Given the description of an element on the screen output the (x, y) to click on. 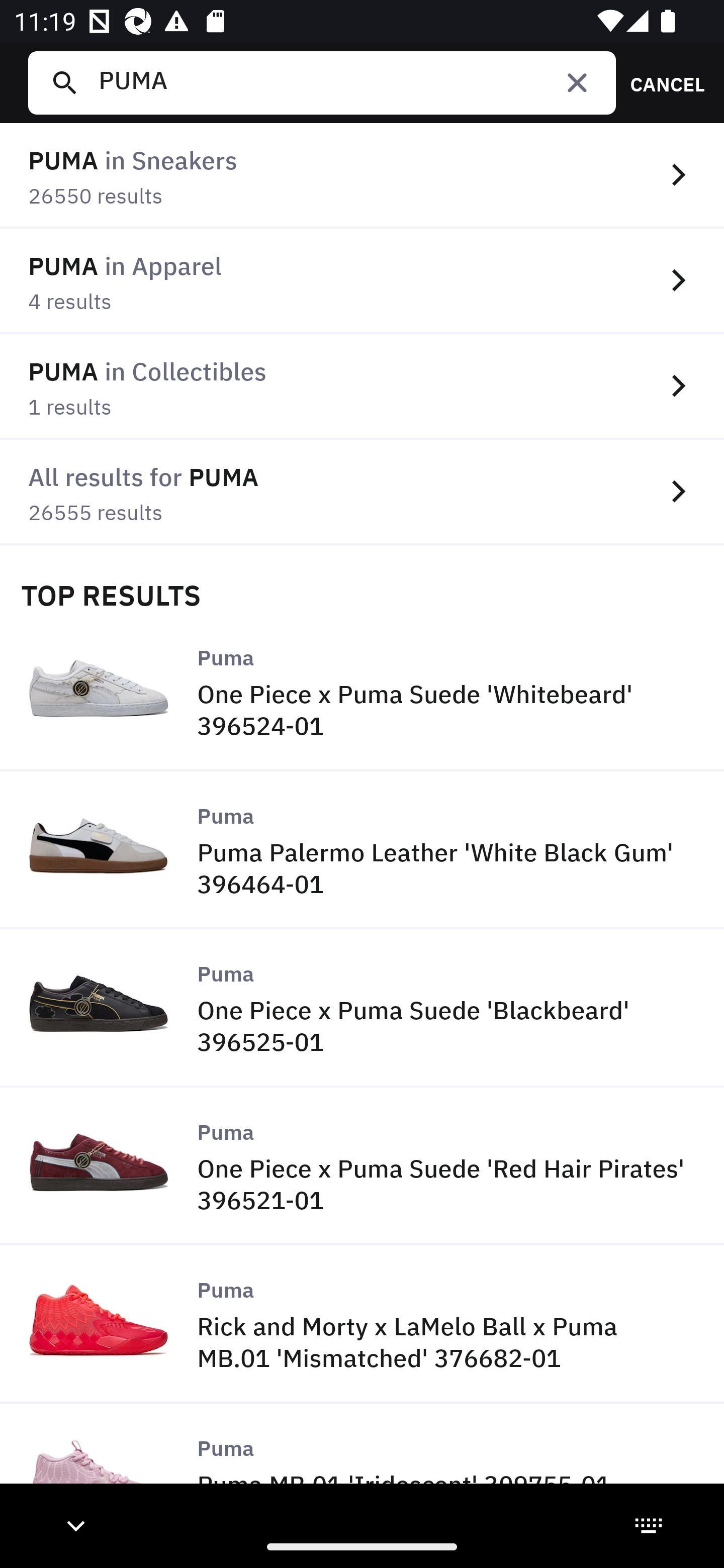
CANCEL (660, 82)
PUMA (349, 82)
 (577, 82)
PUMA  in Sneakers 26550 results  (362, 175)
PUMA  in Apparel 4 results  (362, 280)
PUMA  in Collectibles 1 results  (362, 386)
All results for  PUMA 26555 results  (362, 492)
Puma One Piece x Puma Suede 'Whitebeard' 396524‑01 (362, 692)
Puma One Piece x Puma Suede 'Blackbeard' 396525‑01 (362, 1008)
